Given the description of an element on the screen output the (x, y) to click on. 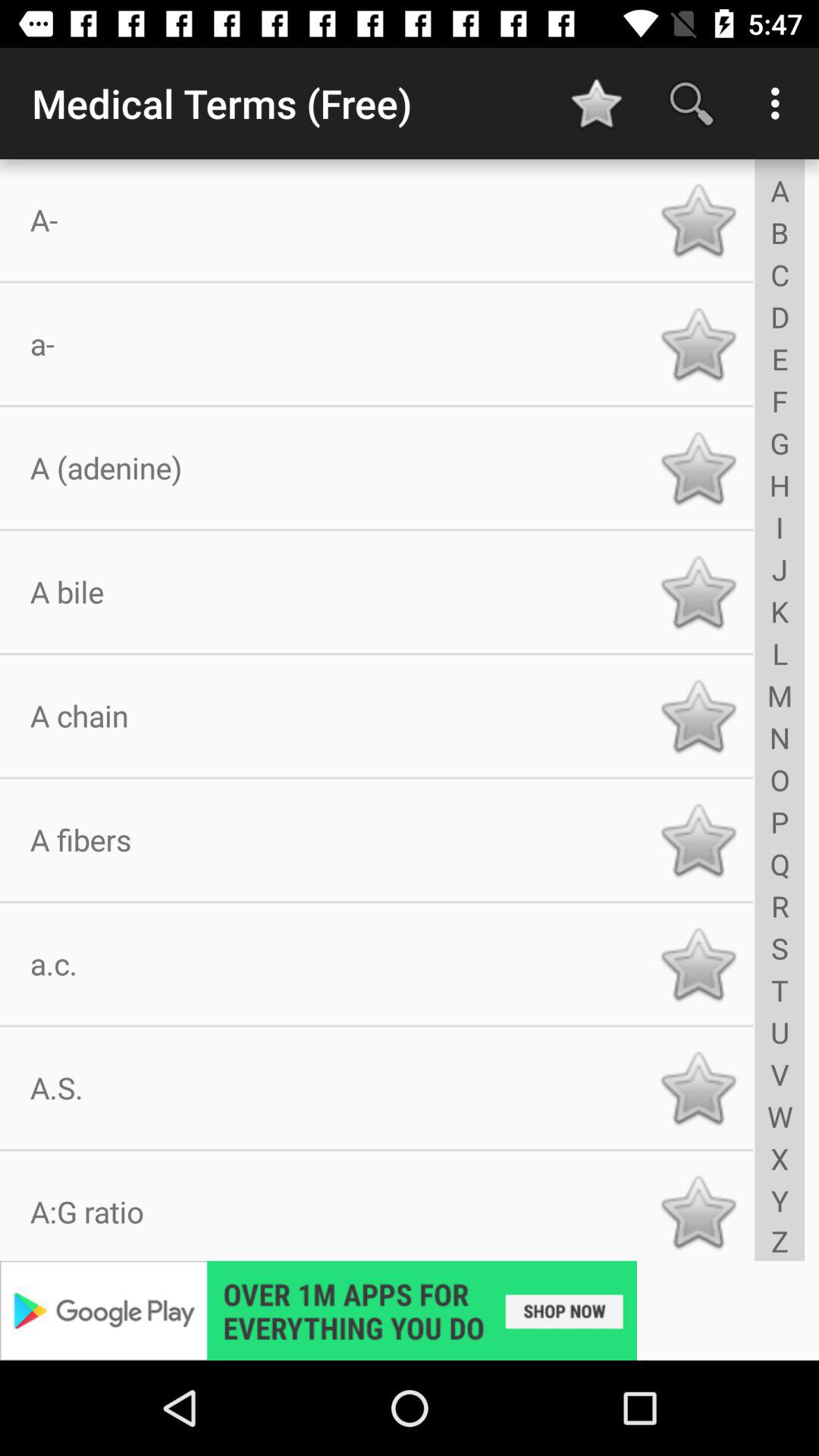
icon button (697, 344)
